Given the description of an element on the screen output the (x, y) to click on. 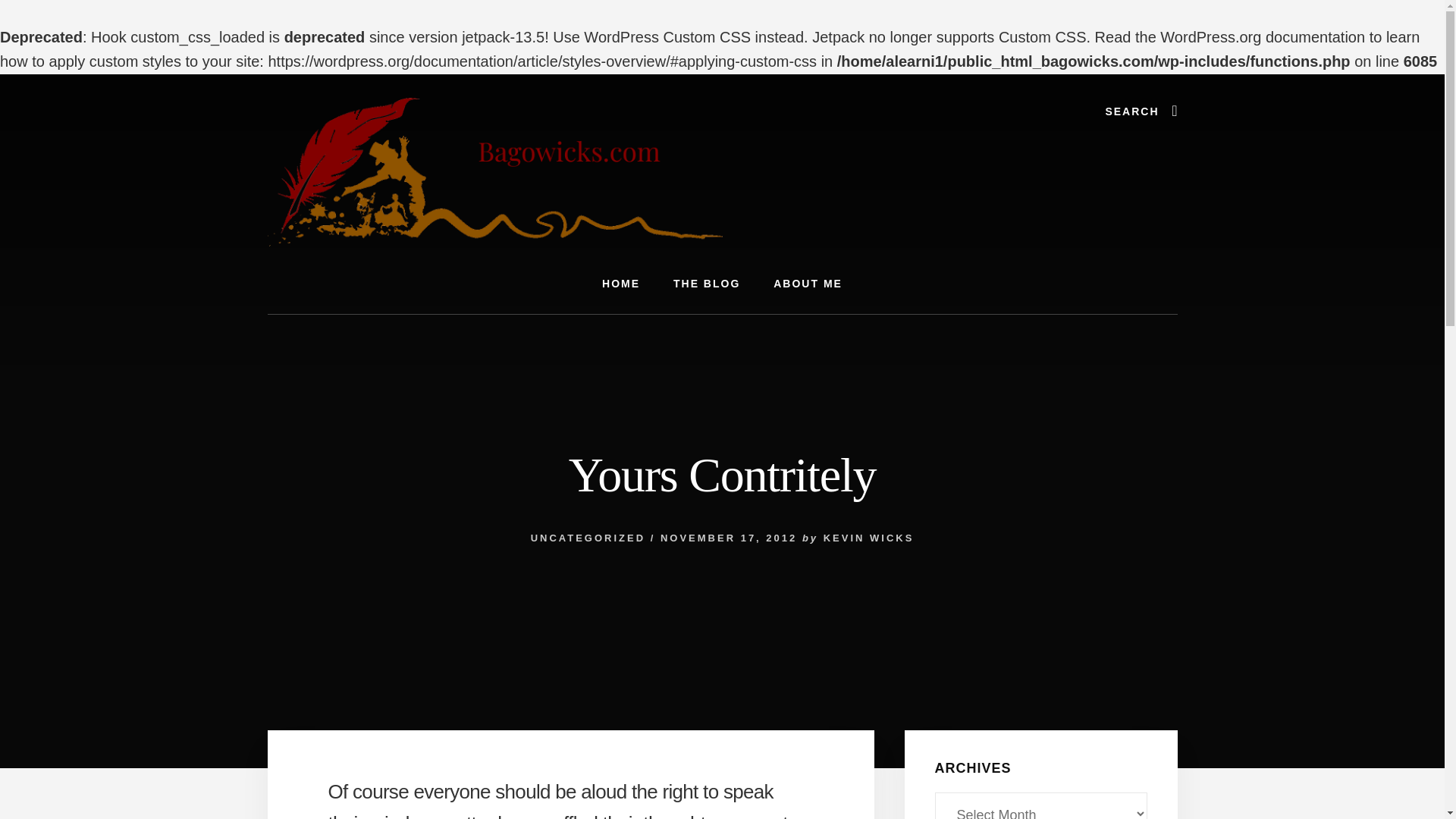
ABOUT ME (807, 283)
HOME (620, 283)
KEVIN WICKS (869, 537)
THE BLOG (706, 283)
UNCATEGORIZED (588, 537)
